Given the description of an element on the screen output the (x, y) to click on. 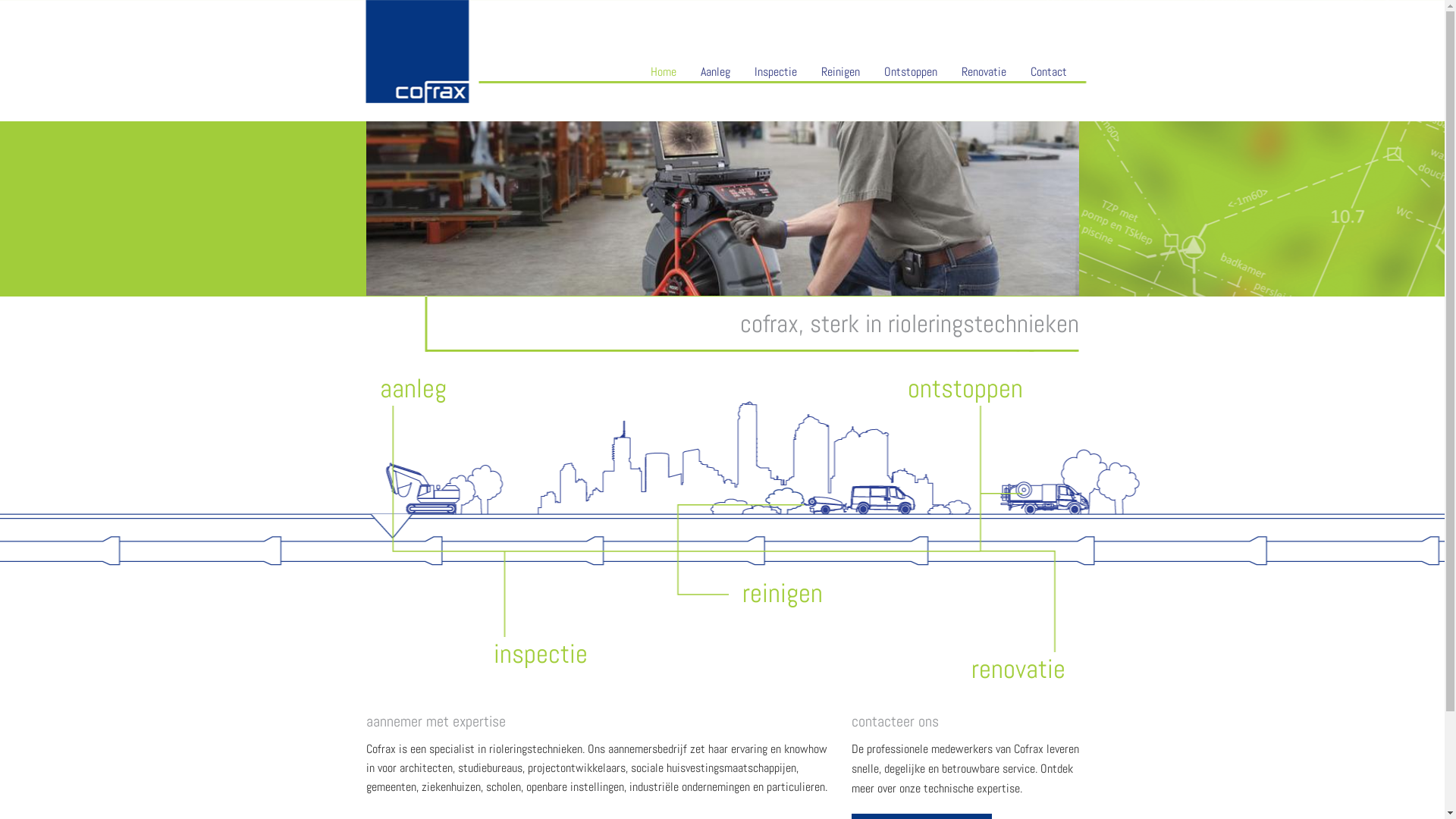
Inspectie Element type: text (774, 71)
reinigen Element type: text (781, 593)
aanleg Element type: text (412, 388)
inspectie Element type: text (539, 654)
Cofrax rioleringsaanleg Element type: hover (721, 208)
Renovatie Element type: text (983, 71)
Contact Element type: text (1047, 71)
renovatie Element type: text (1017, 669)
Home Element type: text (663, 71)
Ontstoppen Element type: text (910, 71)
Aanleg Element type: text (715, 71)
Reinigen Element type: text (839, 71)
ontstoppen Element type: text (964, 388)
